Given the description of an element on the screen output the (x, y) to click on. 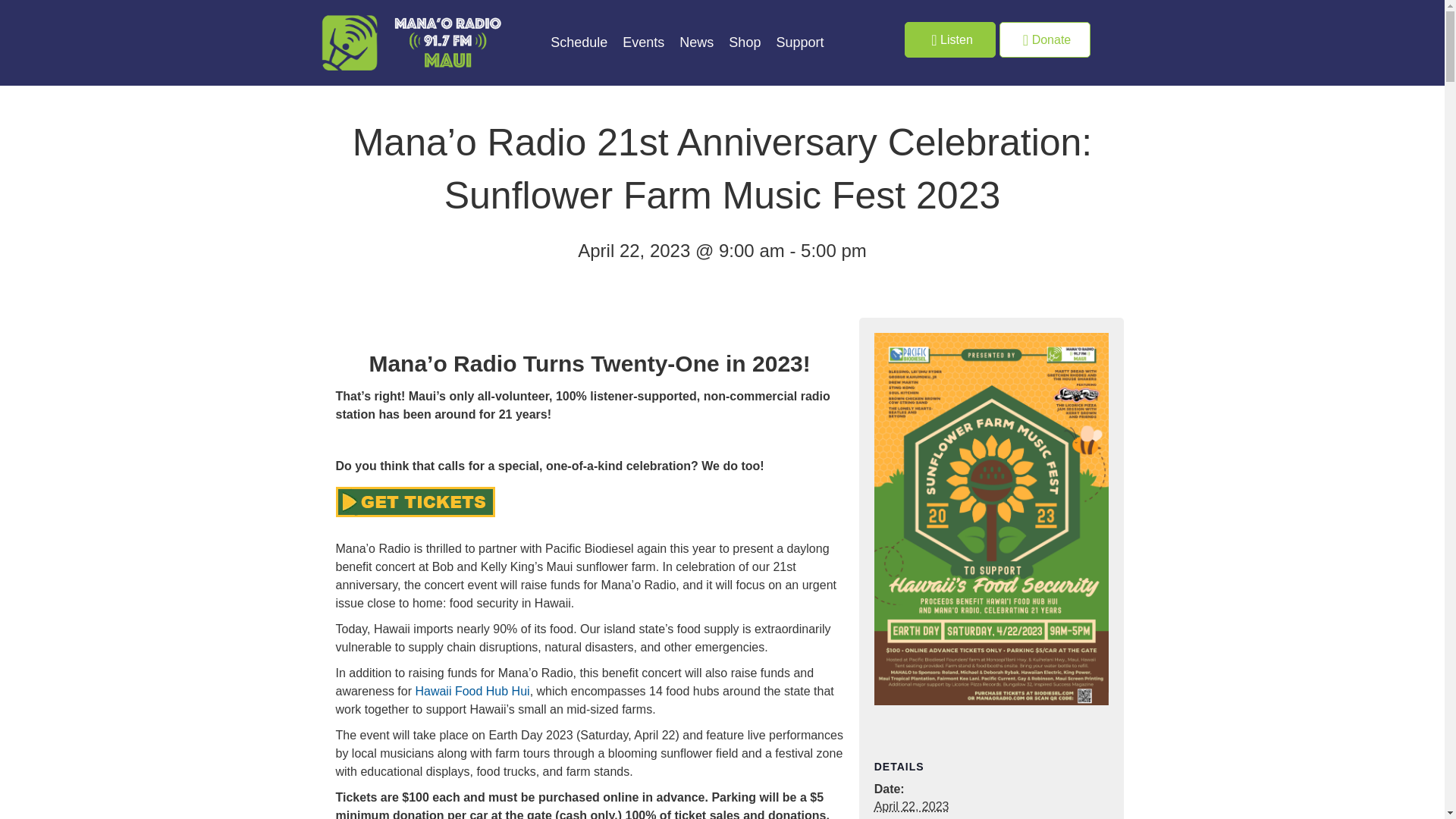
News (695, 42)
Schedule (578, 42)
2023-04-22 (912, 806)
Support (798, 42)
Events (642, 42)
Hawaii Food Hub Hui (471, 690)
Shop (743, 42)
kmno-300x90-logo-master-reverse (411, 42)
Listen (949, 39)
Donate (1044, 39)
